Given the description of an element on the screen output the (x, y) to click on. 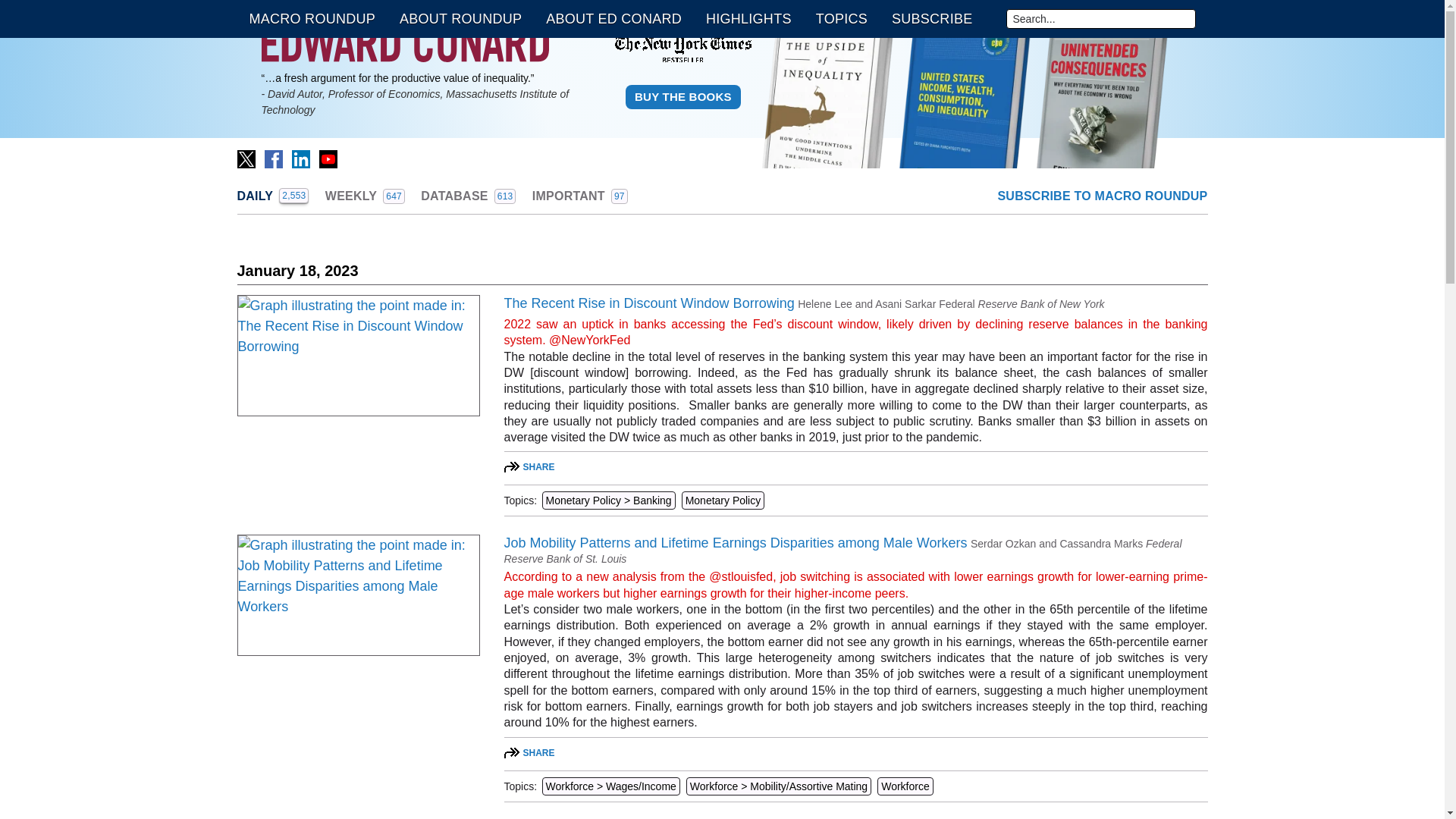
Edward Conard (404, 43)
TOPICS (271, 196)
Search for: (841, 18)
View all articles from our Daily edition. (1100, 18)
SUBSCRIBE (271, 196)
youtube (931, 18)
SHARE (327, 158)
twitter (528, 466)
linkedin (244, 158)
SHARE (299, 158)
MACRO ROUNDUP (528, 752)
Search (467, 195)
